Given the description of an element on the screen output the (x, y) to click on. 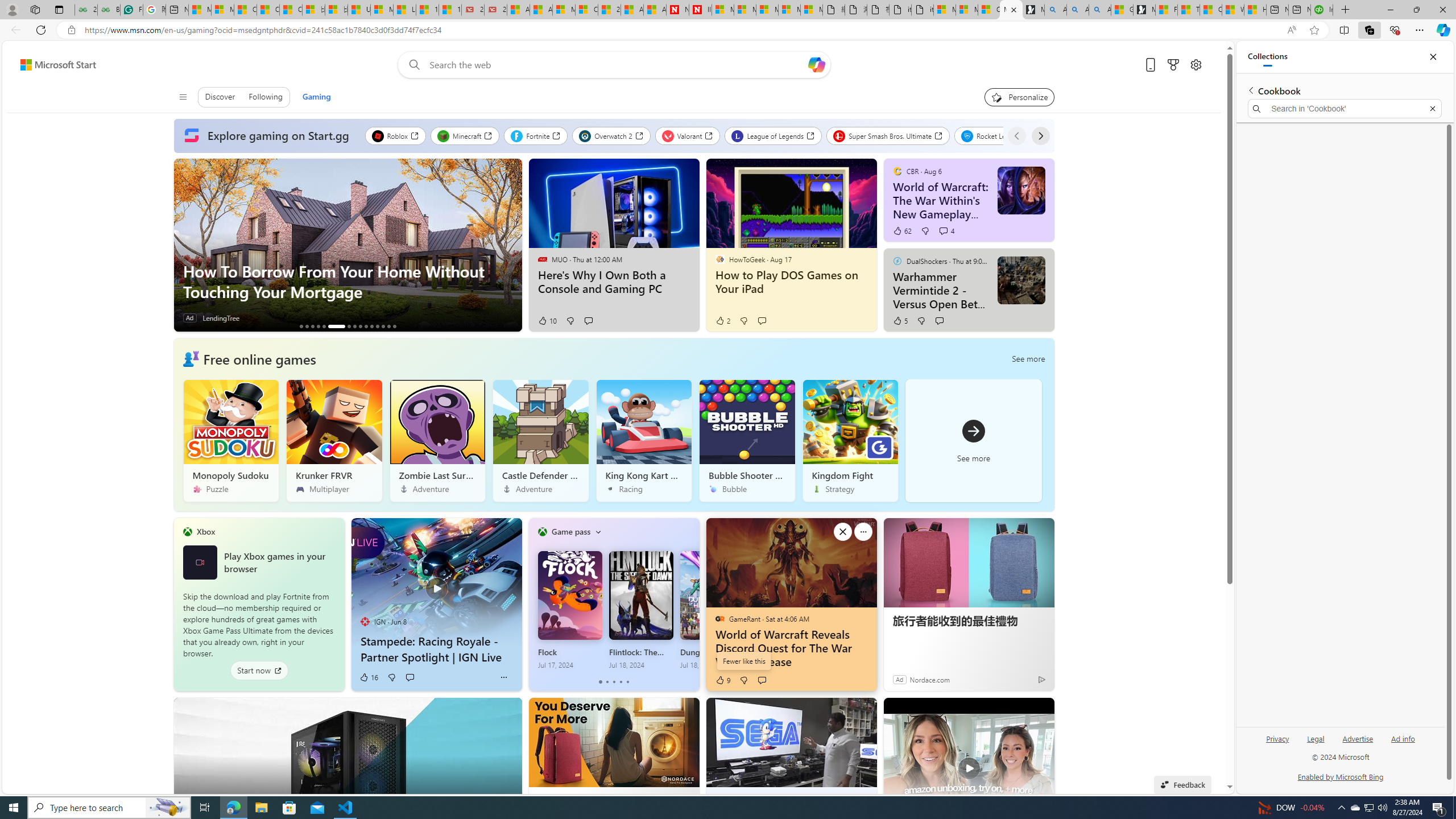
Lifestyle - MSN (404, 9)
HowToGeek (719, 258)
Overwatch 2 (610, 135)
62 Like (901, 230)
Gaming (316, 97)
Class: control icon-only (182, 97)
Free online games See more (613, 424)
Castle Defender Saga (540, 440)
